Given the description of an element on the screen output the (x, y) to click on. 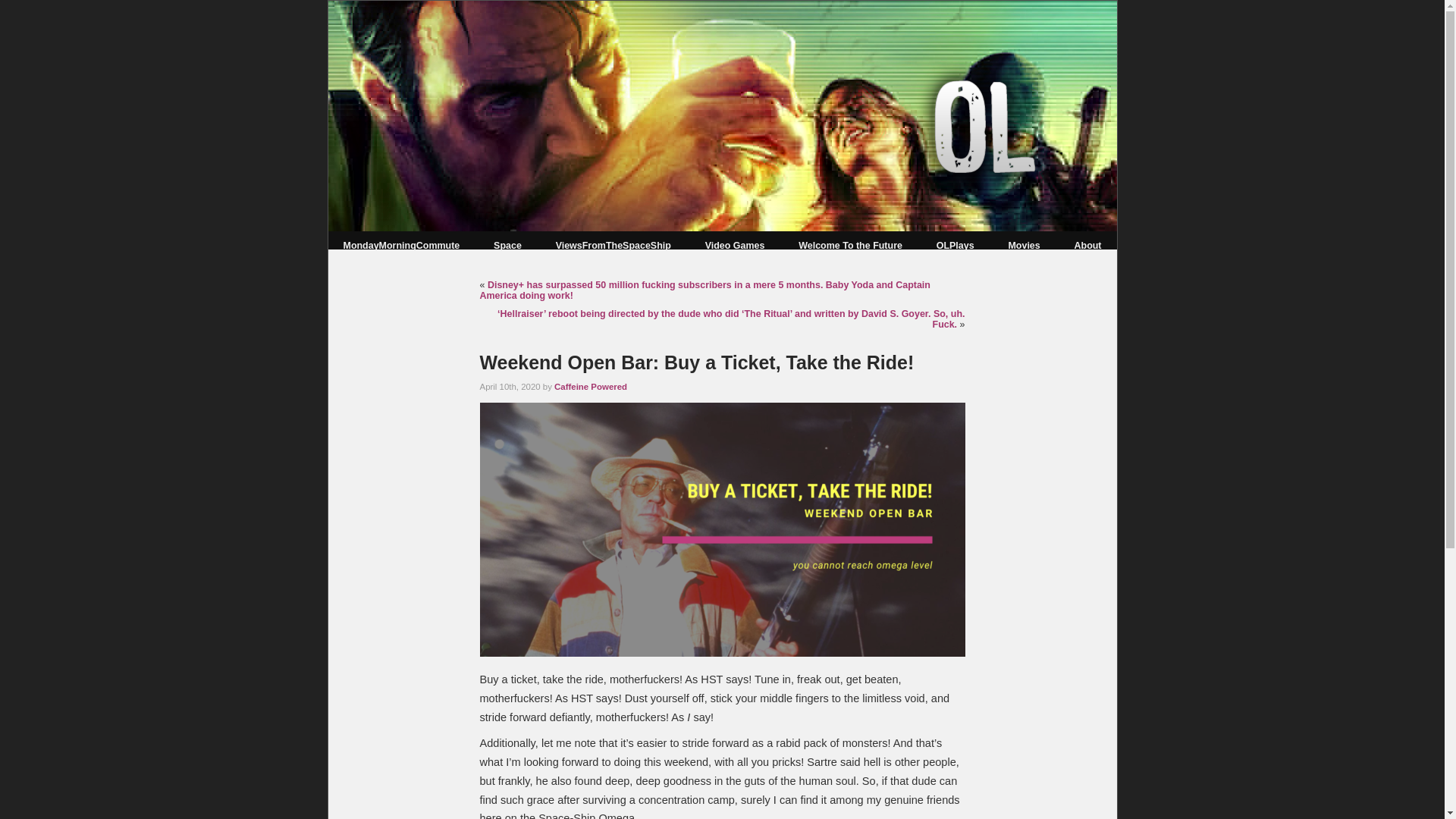
Video Games (734, 245)
MondayMorningCommute (401, 245)
Welcome To the Future (849, 245)
Space (507, 245)
About (1088, 245)
OLPlays (955, 245)
ViewsFromTheSpaceShip (613, 245)
Movies (1023, 245)
